Given the description of an element on the screen output the (x, y) to click on. 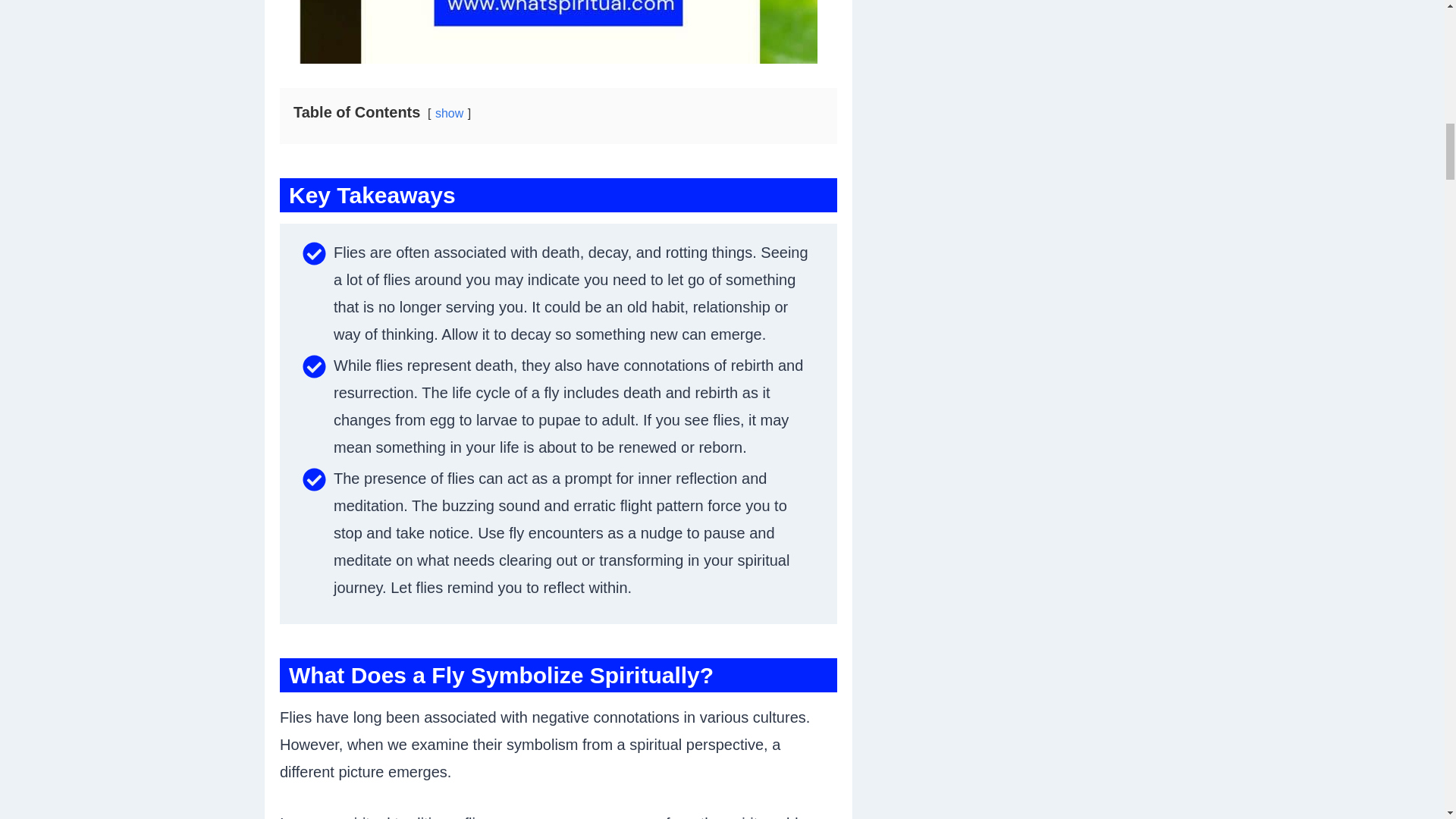
show (449, 113)
